Given the description of an element on the screen output the (x, y) to click on. 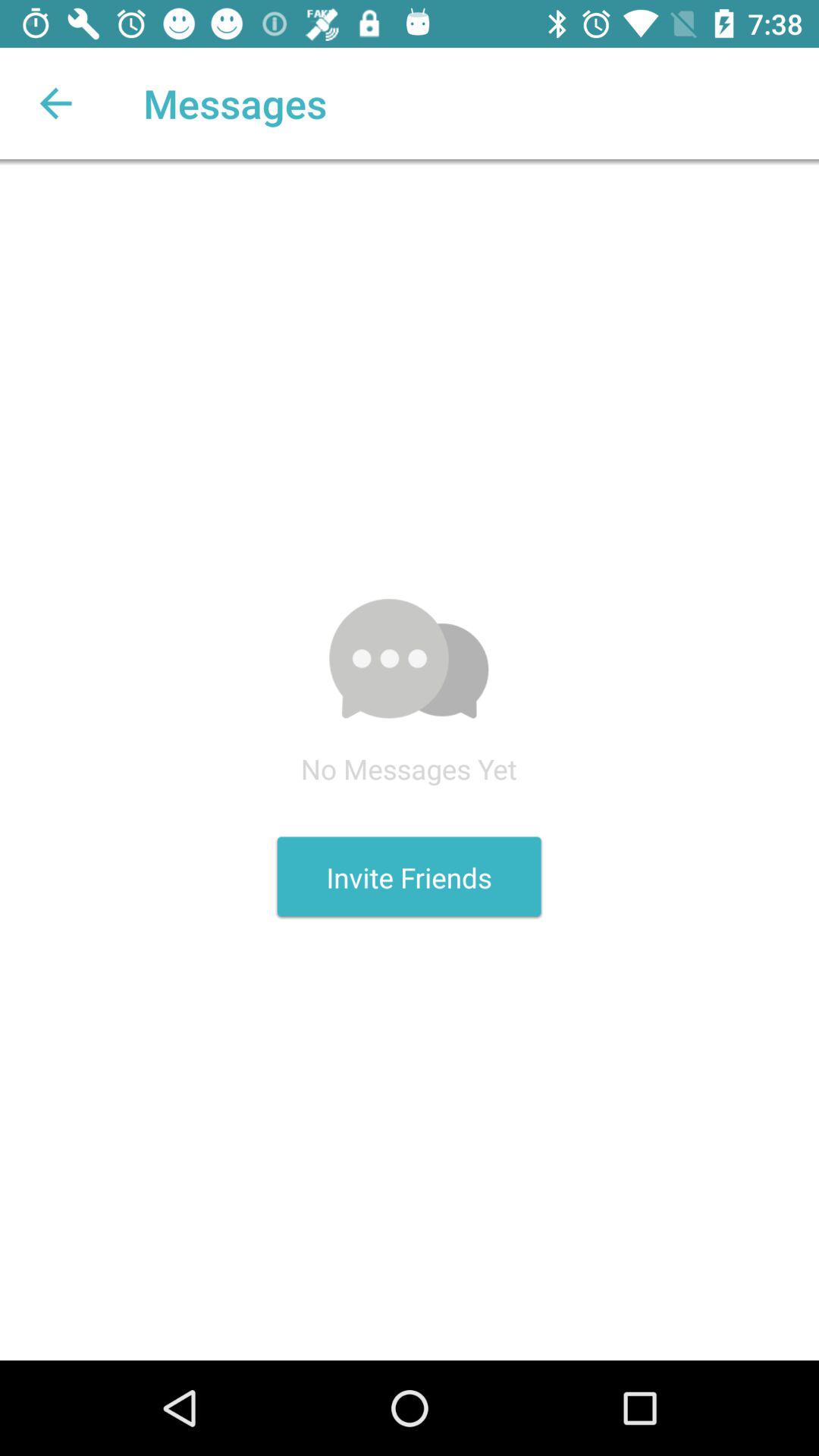
click the icon below the no messages yet icon (408, 877)
